Given the description of an element on the screen output the (x, y) to click on. 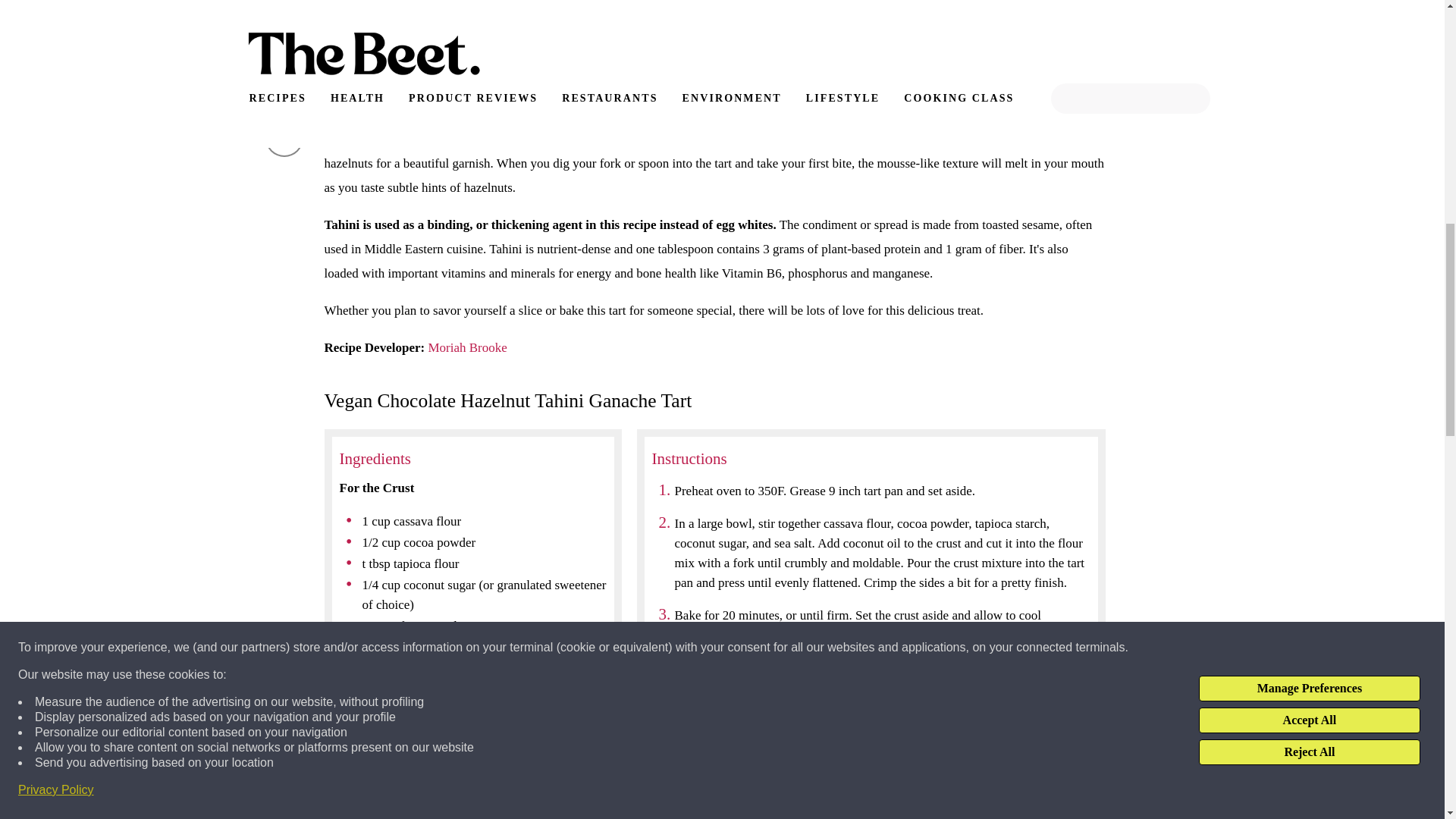
Pin it! (283, 31)
Print this page (283, 137)
Share on Twitter (283, 85)
